Given the description of an element on the screen output the (x, y) to click on. 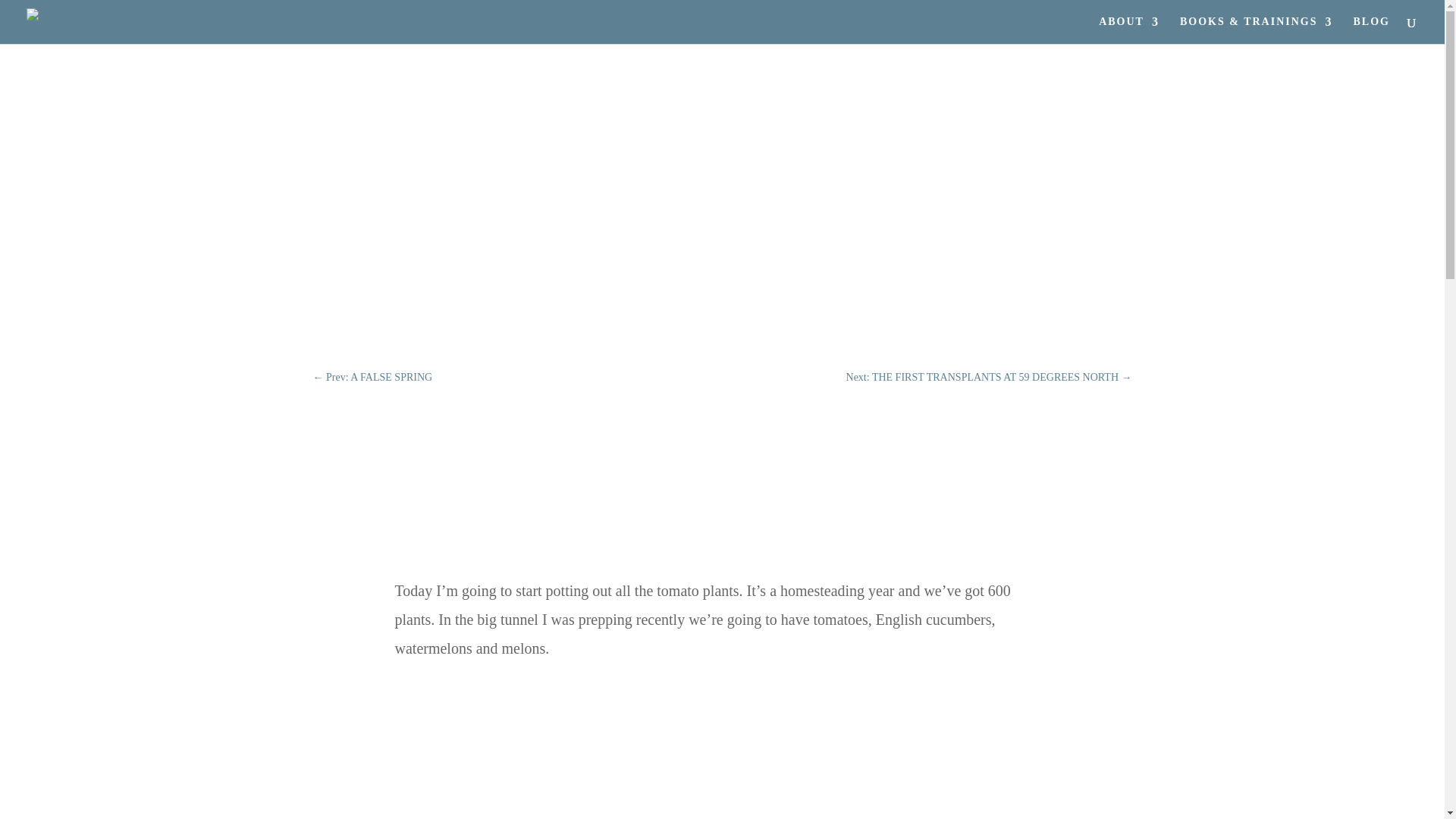
ABOUT (1128, 30)
2 comments (721, 197)
BLOG (1372, 30)
Potting on Tomatoes (721, 811)
